Given the description of an element on the screen output the (x, y) to click on. 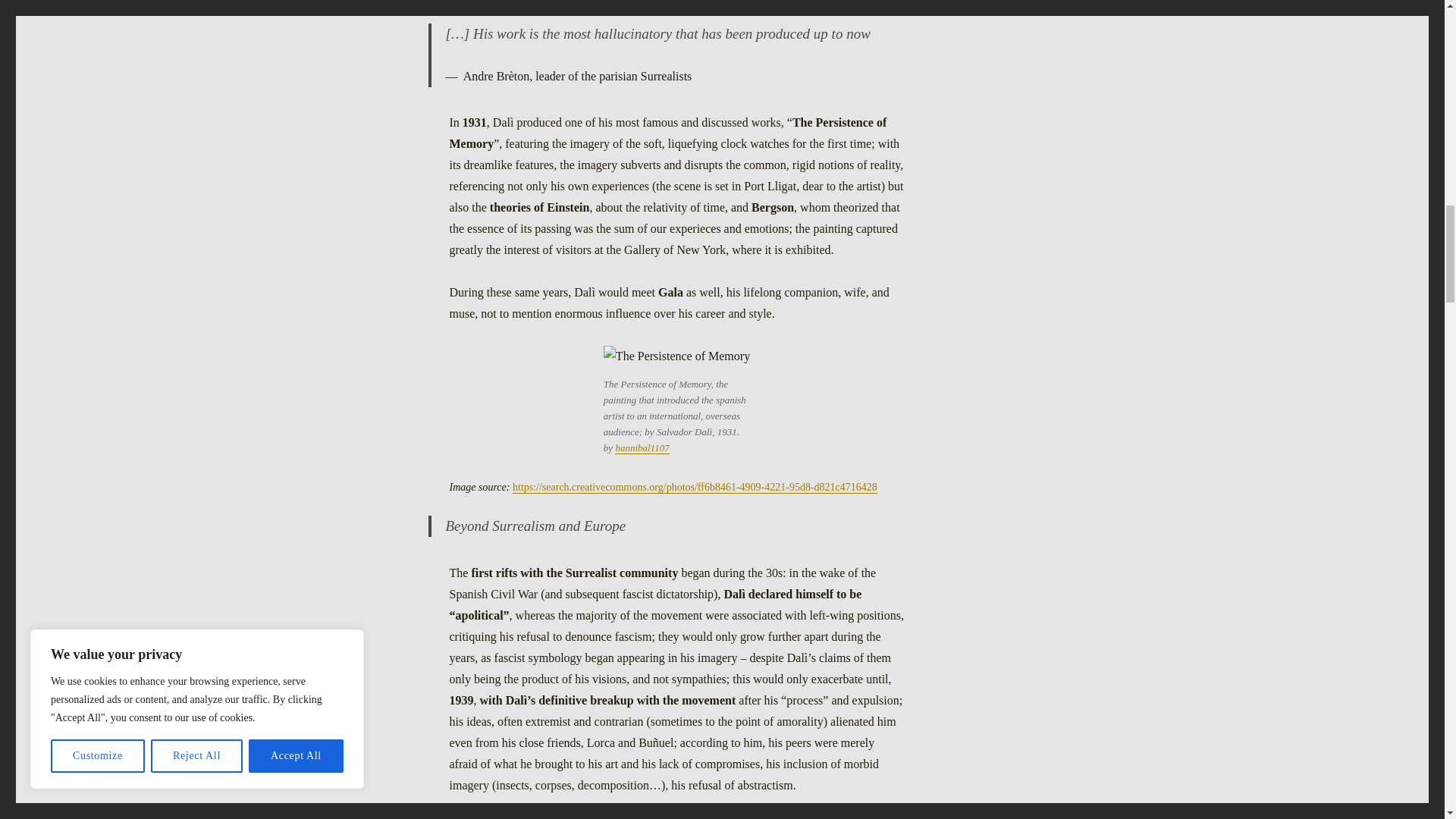
hannibal1107 (641, 447)
